Given the description of an element on the screen output the (x, y) to click on. 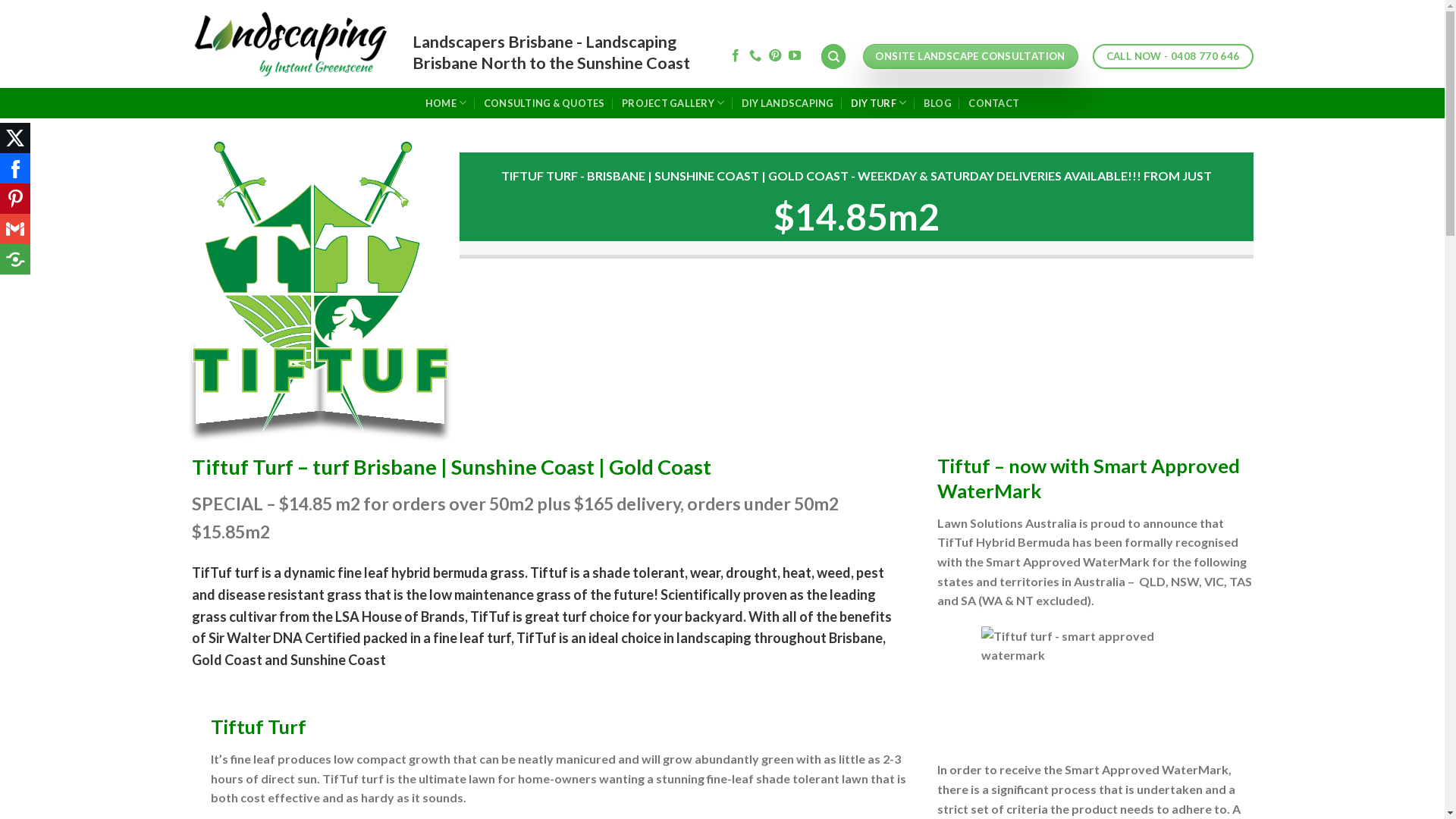
More Options Element type: hover (15, 259)
CONSULTING & QUOTES Element type: text (544, 102)
PROJECT GALLERY Element type: text (672, 102)
BLOG Element type: text (937, 102)
Call us Element type: hover (755, 55)
Follow on Pinterest Element type: hover (774, 55)
Tiftuf_Logo_Master Element type: hover (319, 285)
X (Twitter) Element type: hover (15, 137)
CONTACT Element type: text (993, 102)
Follow on YouTube Element type: hover (794, 55)
Facebook Element type: hover (15, 168)
HOME Element type: text (445, 102)
Follow on Facebook Element type: hover (735, 55)
CALL NOW - 0408 770 646 Element type: text (1172, 56)
Google Gmail Element type: hover (15, 228)
ONSITE LANDSCAPE CONSULTATION Element type: text (970, 56)
Pinterest Element type: hover (15, 198)
DIY TURF Element type: text (878, 102)
DIY LANDSCAPING Element type: text (787, 102)
